Given the description of an element on the screen output the (x, y) to click on. 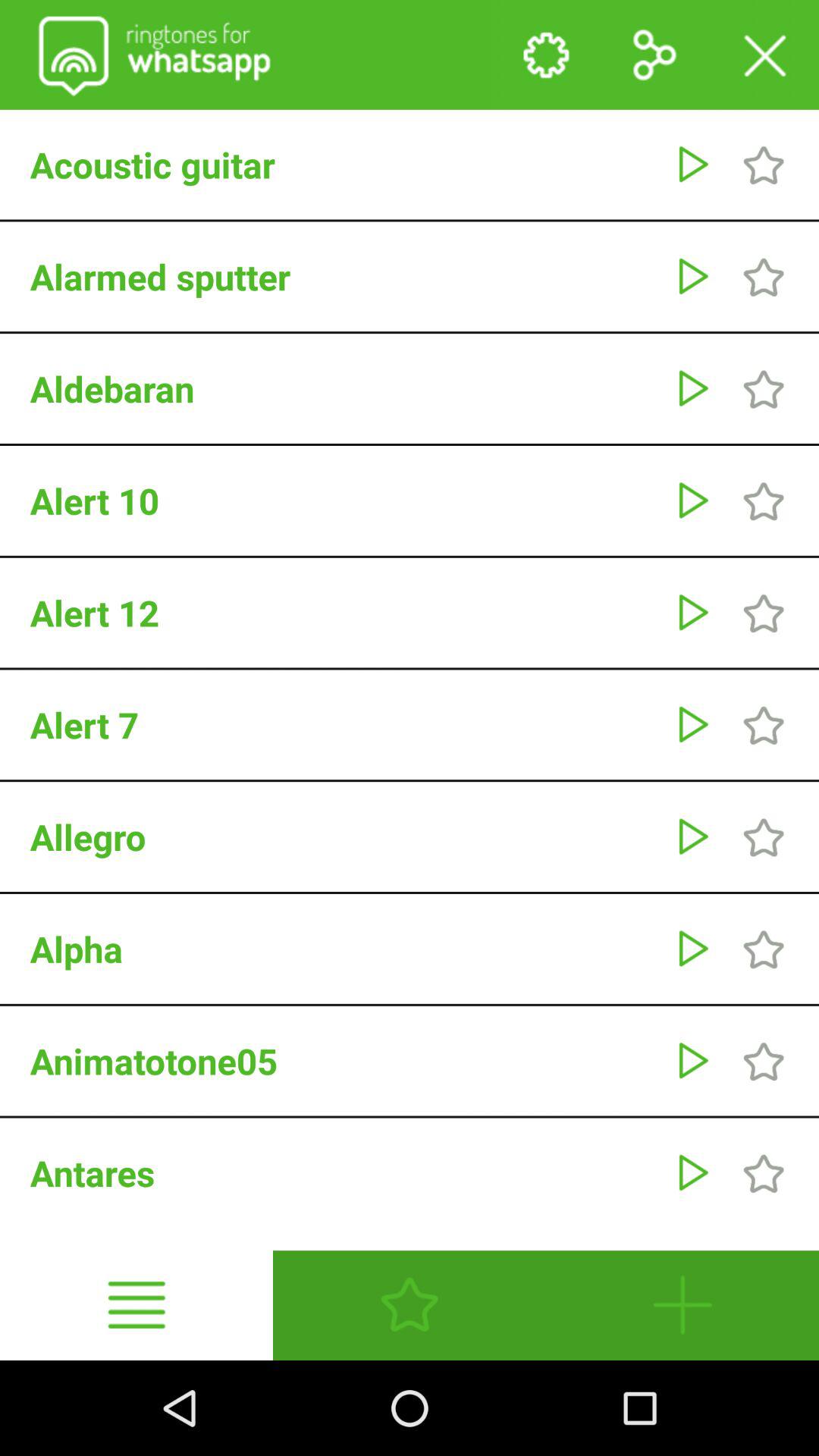
press allegro app (344, 836)
